Given the description of an element on the screen output the (x, y) to click on. 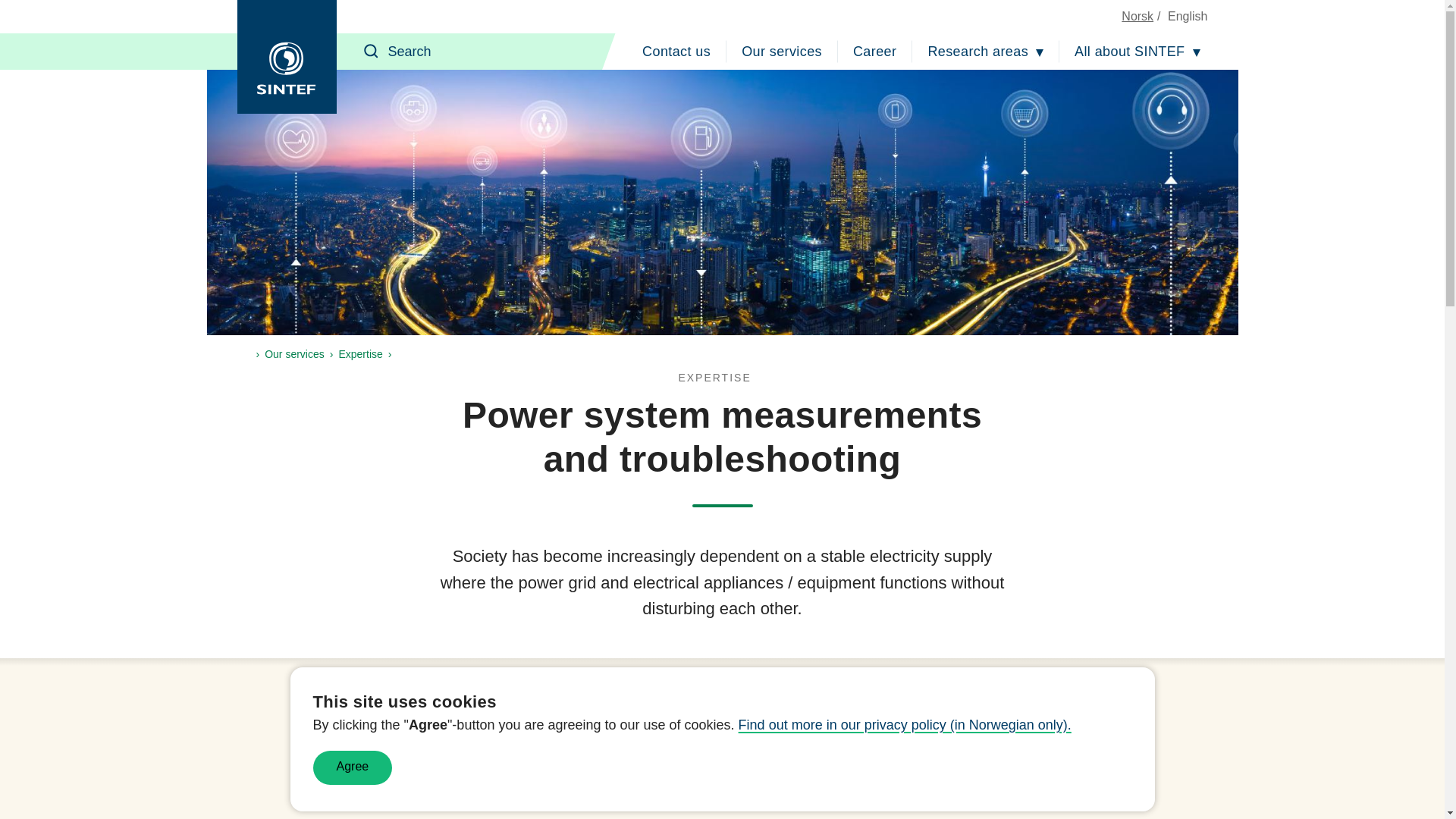
Norsk (1137, 16)
All about SINTEF (1137, 51)
Our services (781, 51)
Career (874, 51)
Research areas (985, 51)
All expertise (721, 377)
Contact us (675, 51)
